Given the description of an element on the screen output the (x, y) to click on. 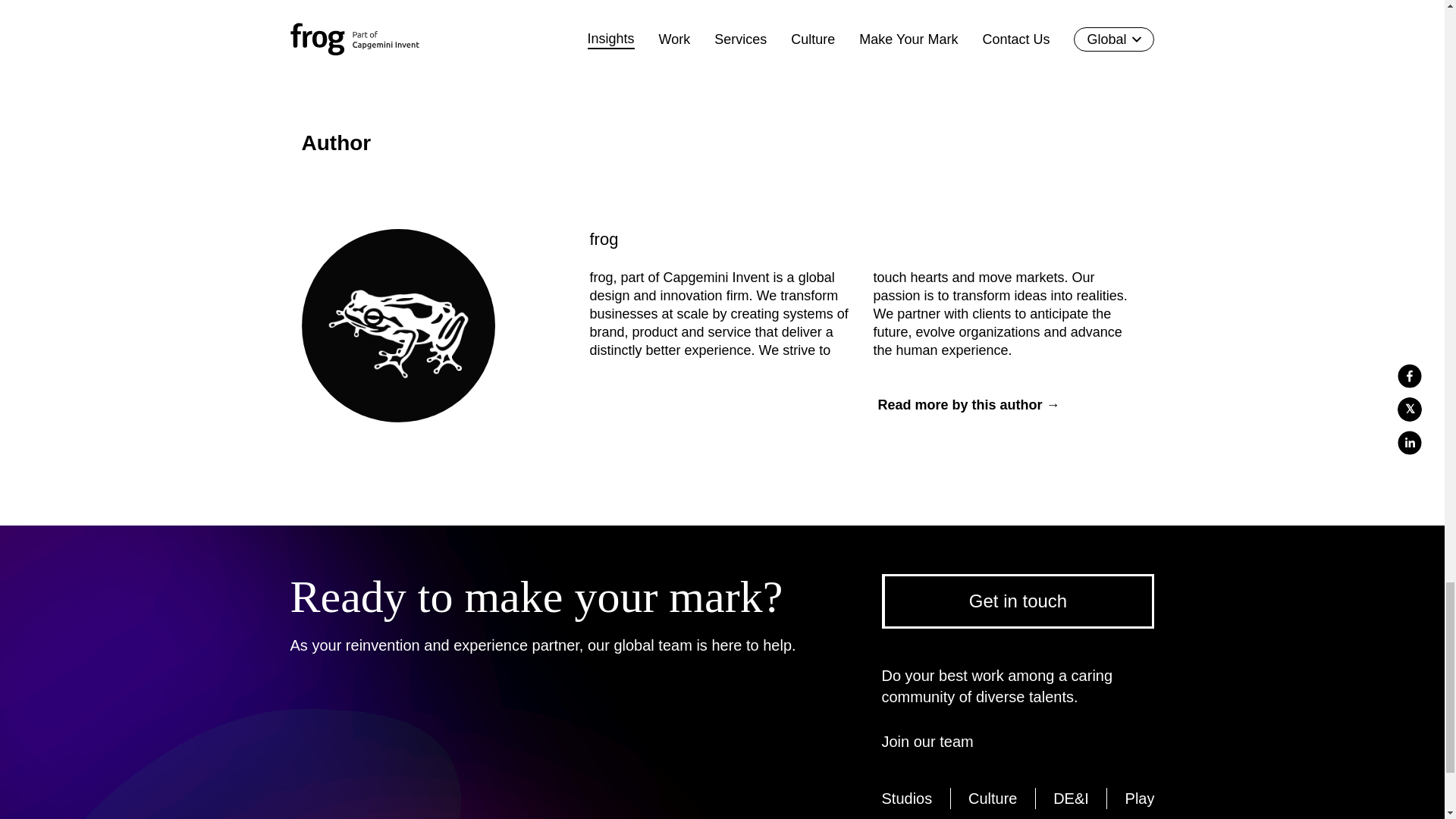
Get in touch (1017, 601)
Culture (992, 798)
Studios (905, 798)
Join our team (932, 741)
